Given the description of an element on the screen output the (x, y) to click on. 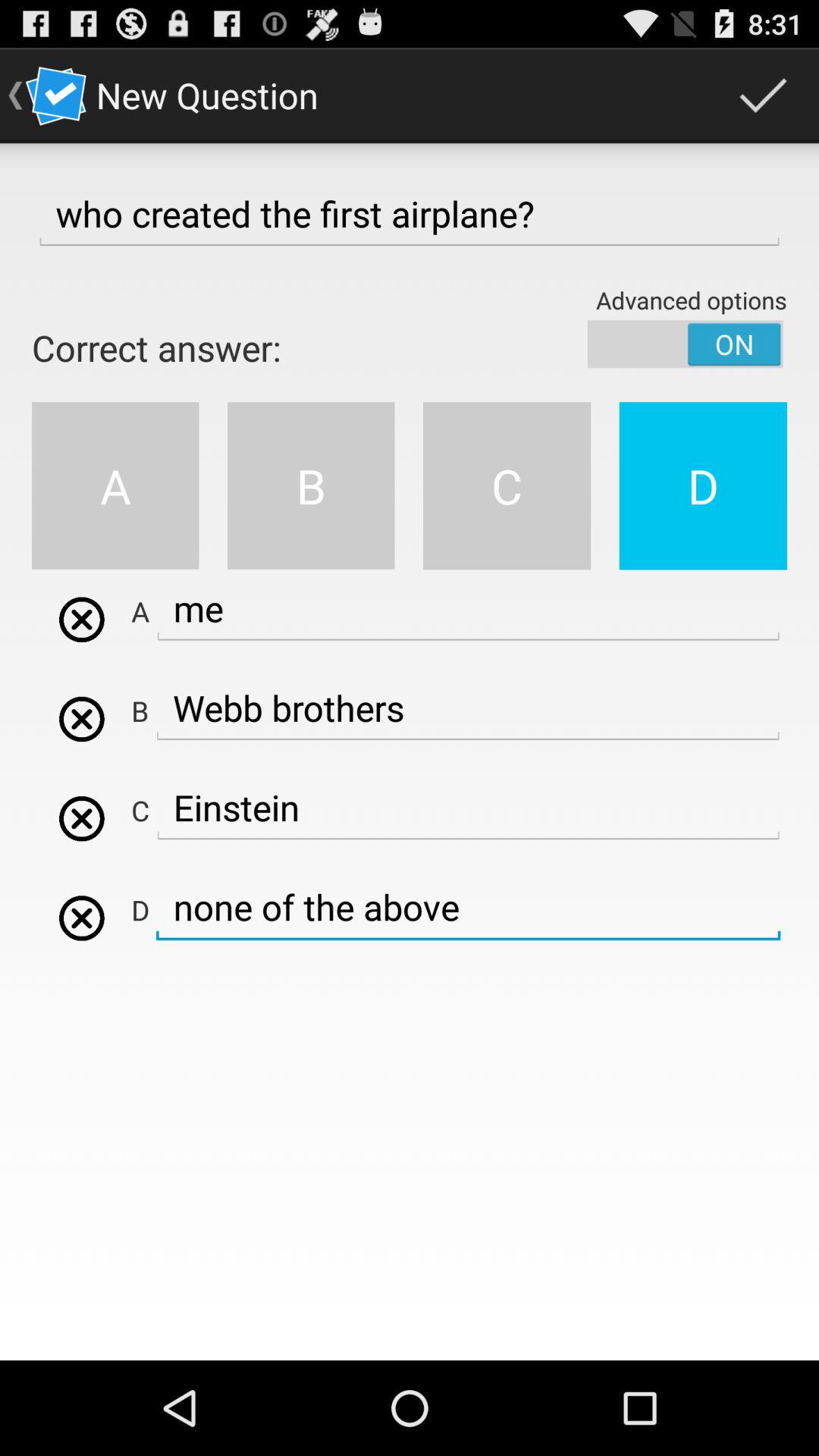
select d (81, 918)
